Given the description of an element on the screen output the (x, y) to click on. 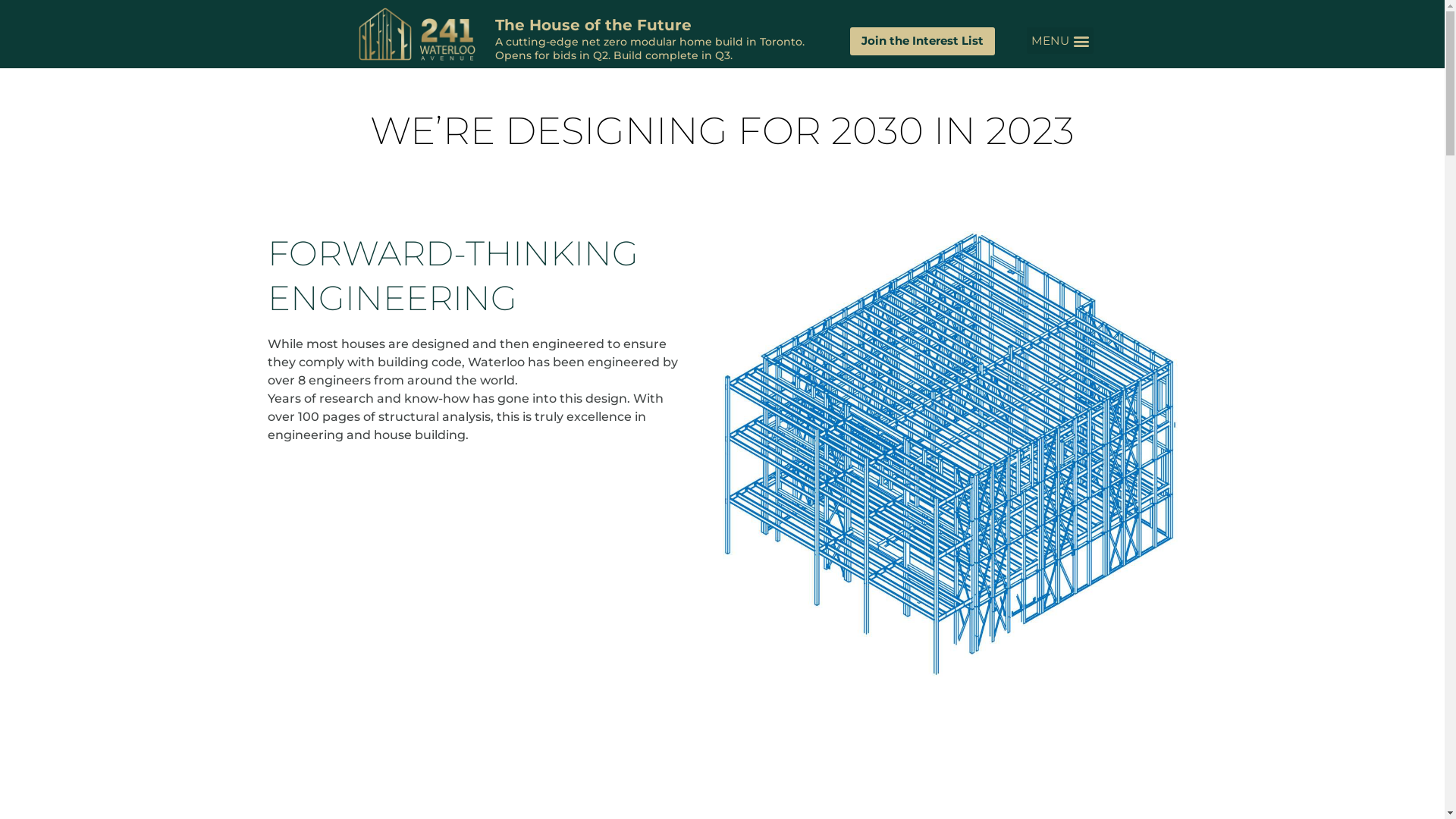
Join the Interest List Element type: text (922, 41)
